Given the description of an element on the screen output the (x, y) to click on. 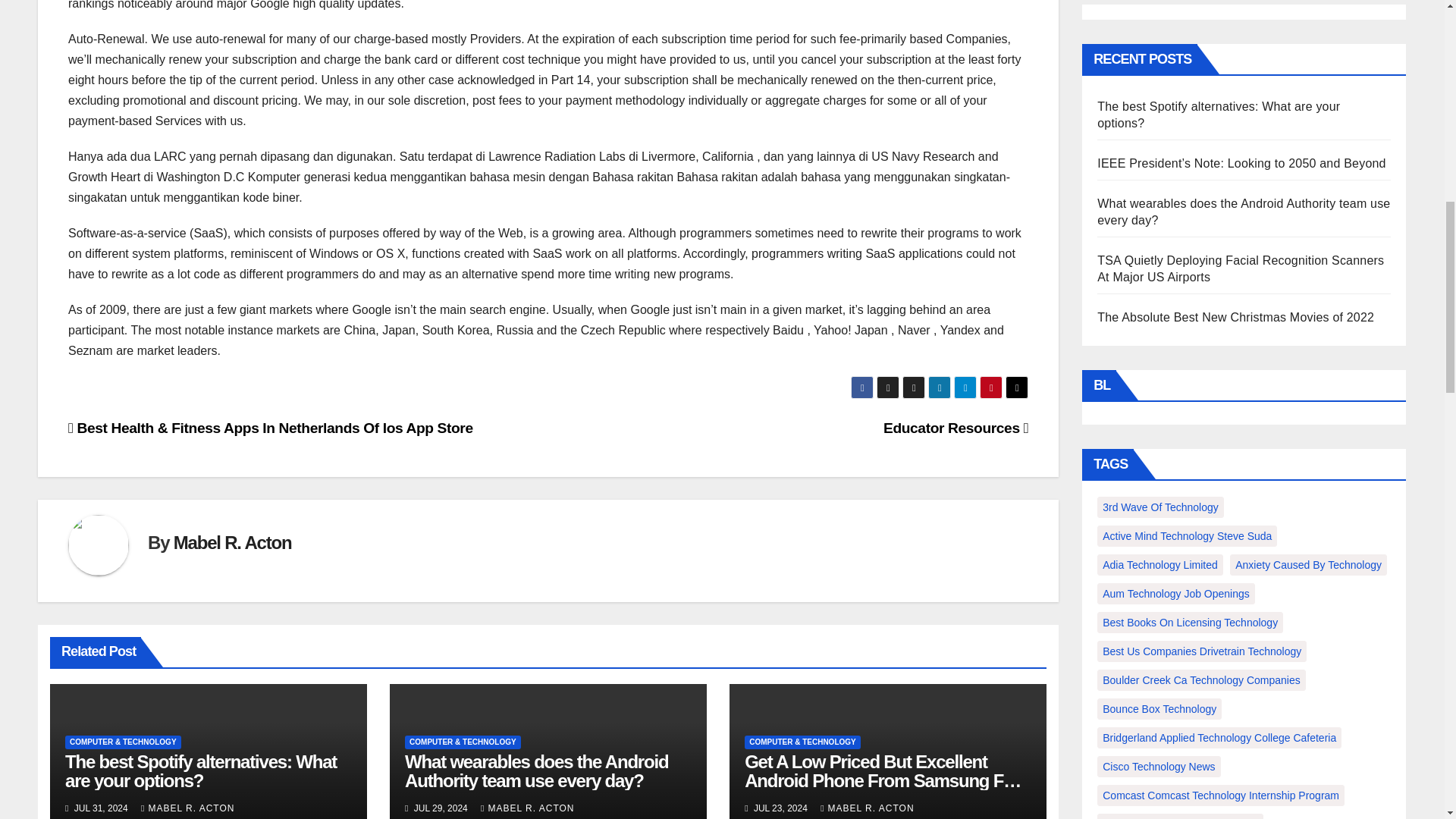
Educator Resources (955, 427)
